Given the description of an element on the screen output the (x, y) to click on. 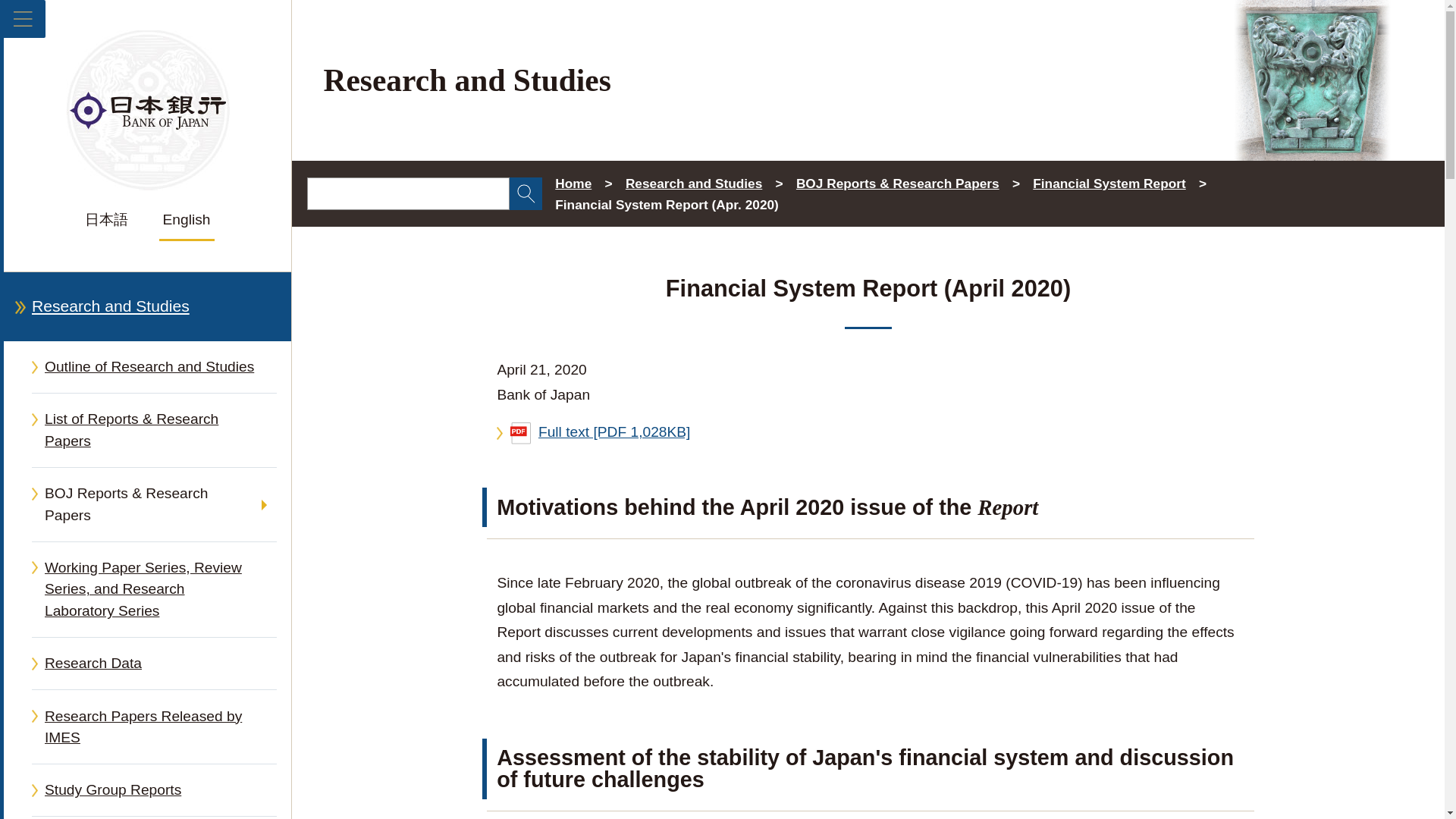
Keyword (408, 193)
